Given the description of an element on the screen output the (x, y) to click on. 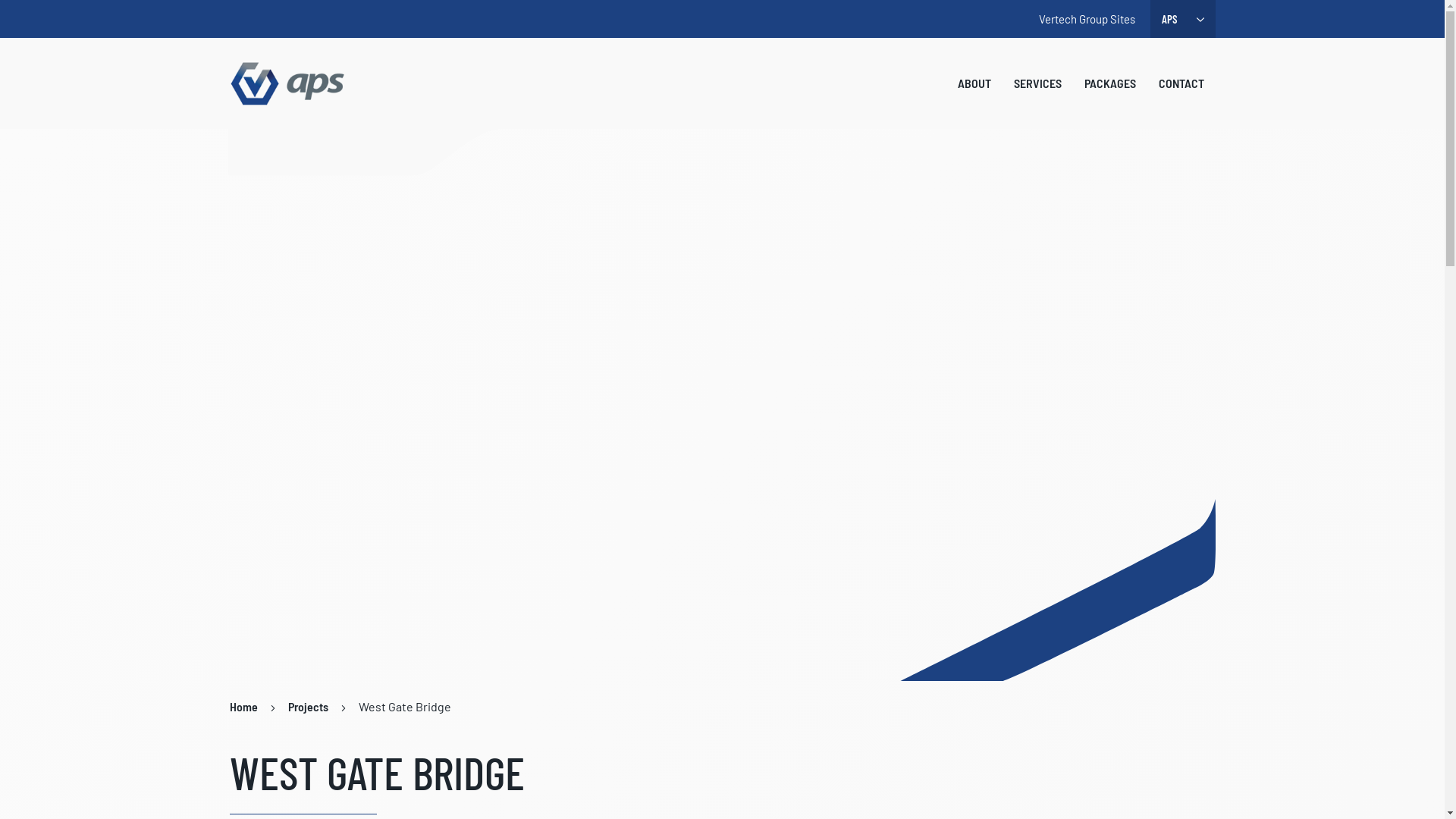
Home Element type: text (242, 707)
SERVICES Element type: text (1037, 82)
CONTACT Element type: text (1180, 82)
PACKAGES Element type: text (1109, 82)
APS Element type: hover (287, 82)
ABOUT Element type: text (974, 82)
Projects Element type: text (307, 707)
